Given the description of an element on the screen output the (x, y) to click on. 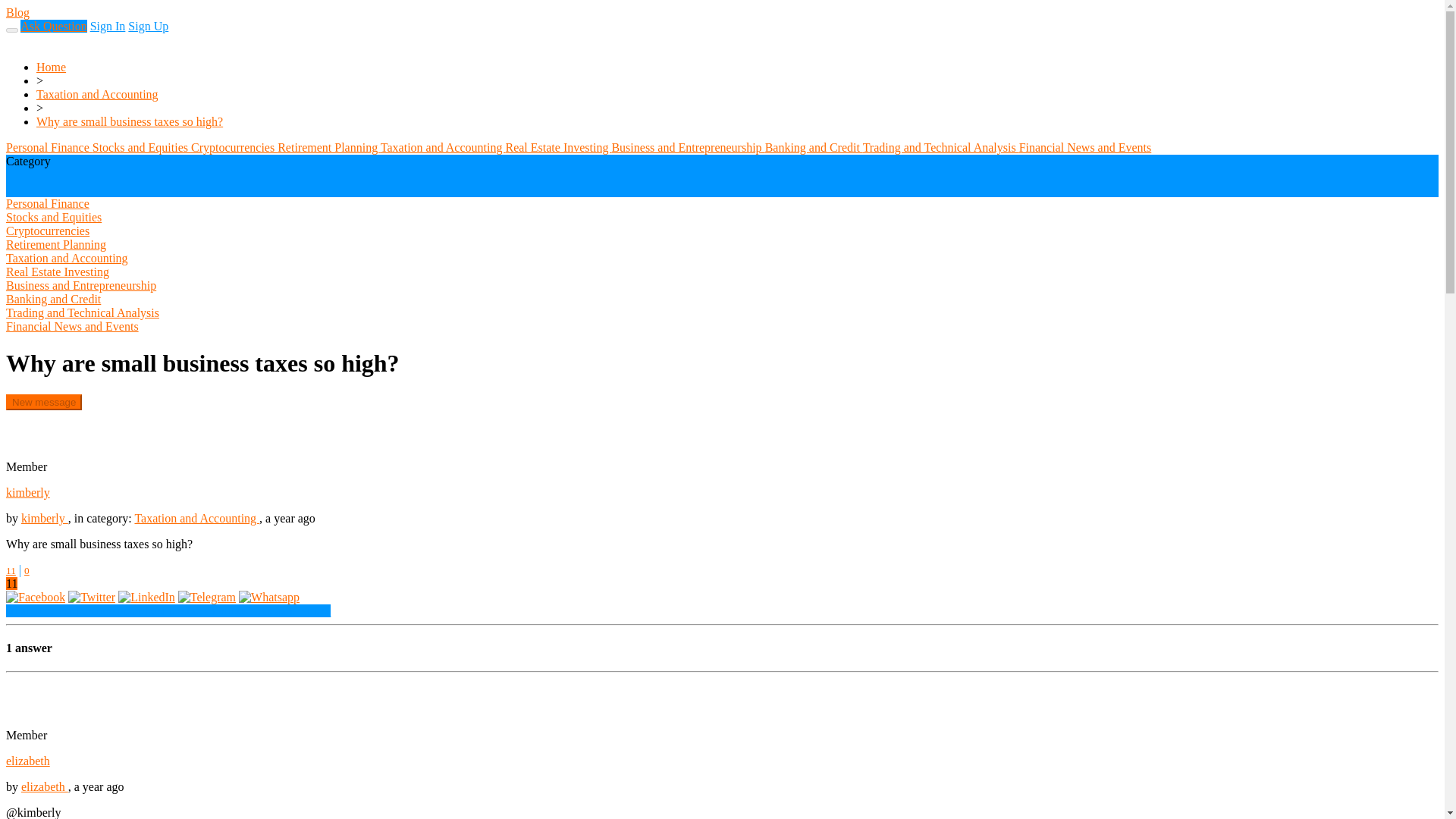
New message (43, 401)
Home (50, 66)
Why are small business taxes so high? (129, 121)
Blog (17, 11)
Sign In (107, 25)
Business and Entrepreneurship (687, 146)
Ask Question (53, 25)
Whatsapp (268, 596)
Real Estate Investing (558, 146)
Facebook (35, 596)
